Given the description of an element on the screen output the (x, y) to click on. 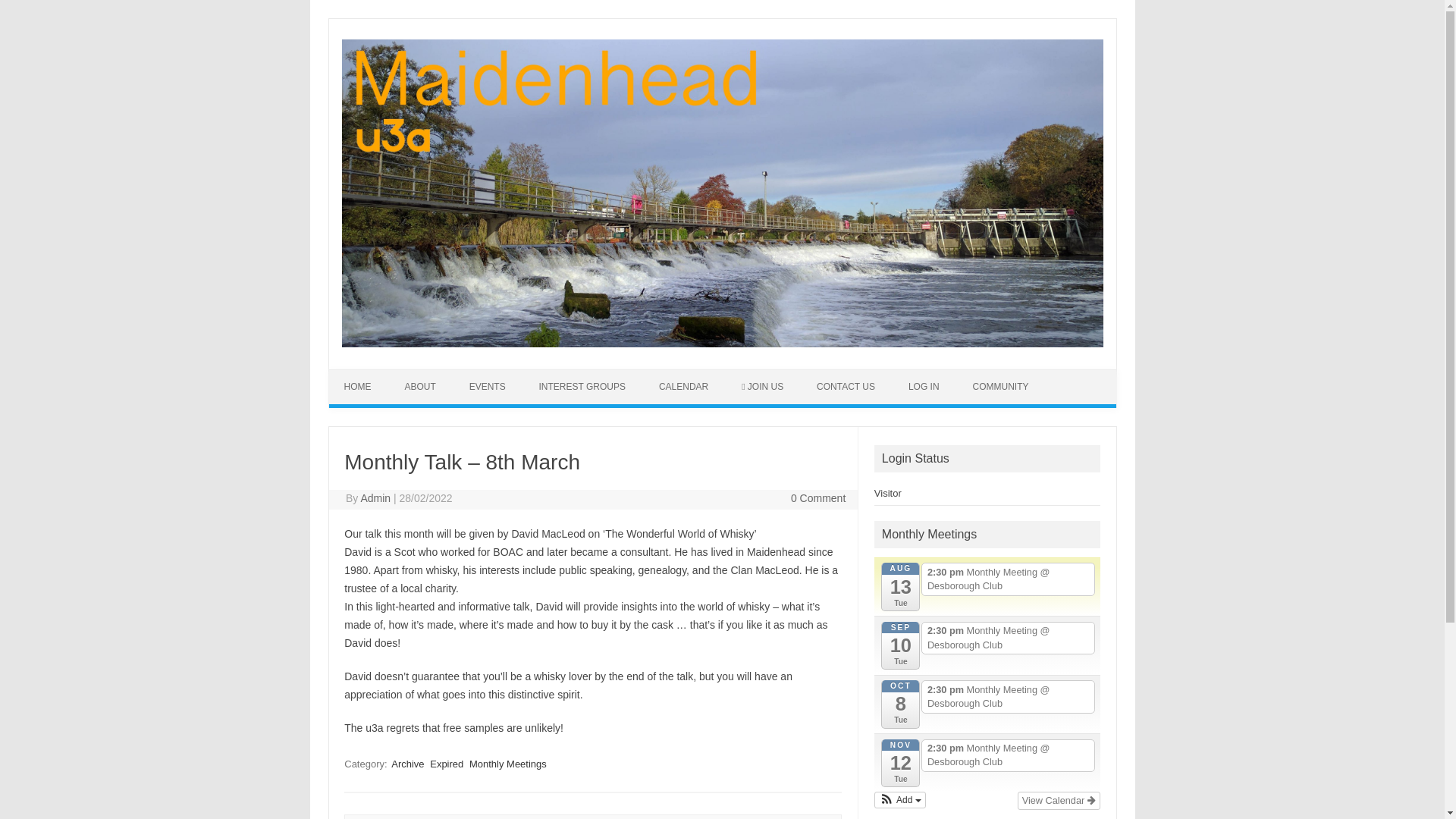
COMMUNITY (999, 386)
Skip to content (363, 374)
Archive (407, 763)
HOME (358, 386)
Maidenhead U3A Website (721, 343)
Expired (446, 763)
JOIN US (761, 386)
INTEREST GROUPS (582, 386)
Admin (374, 498)
Monthly Meetings (507, 763)
